Given the description of an element on the screen output the (x, y) to click on. 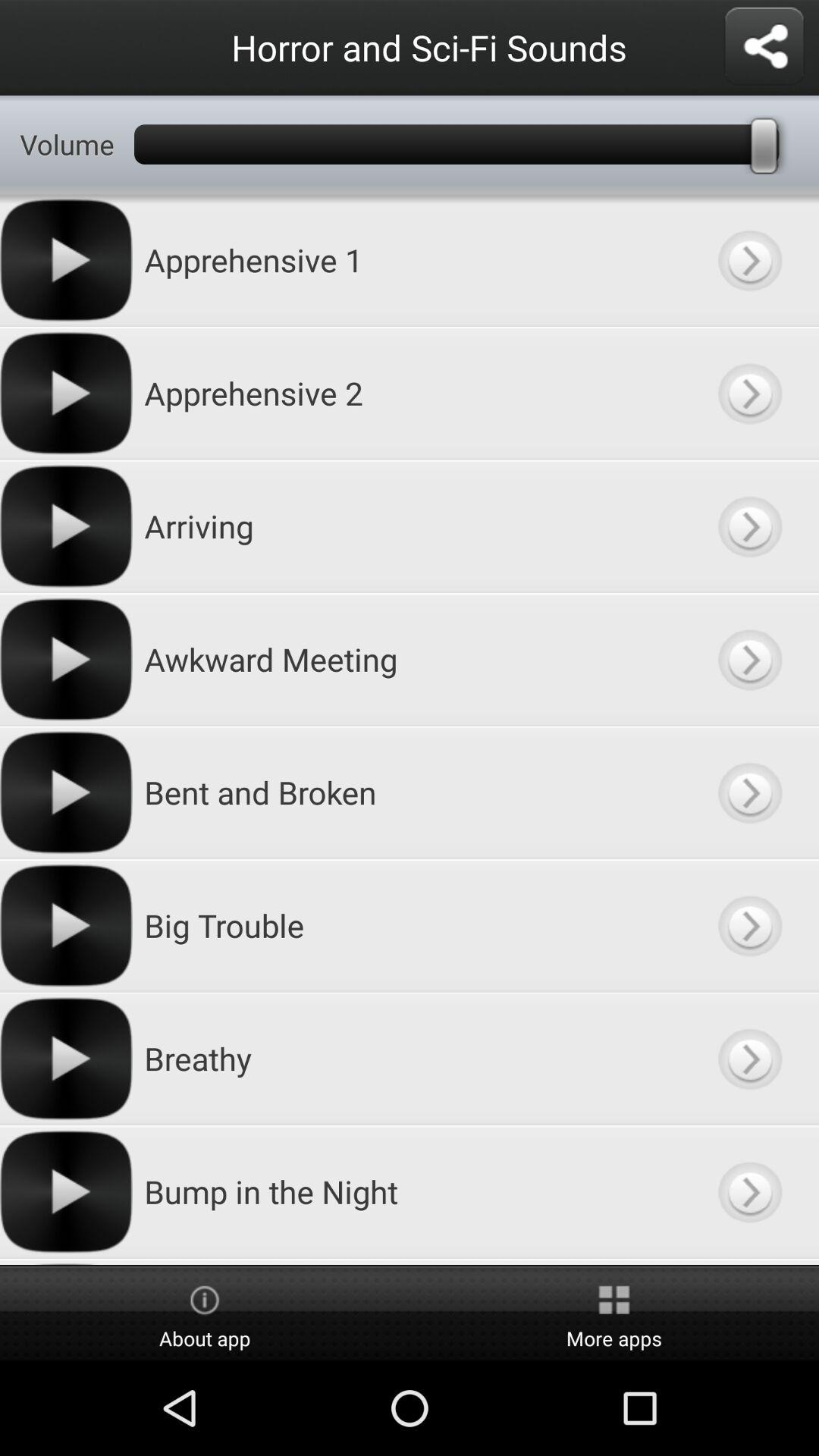
display selection (749, 1058)
